Given the description of an element on the screen output the (x, y) to click on. 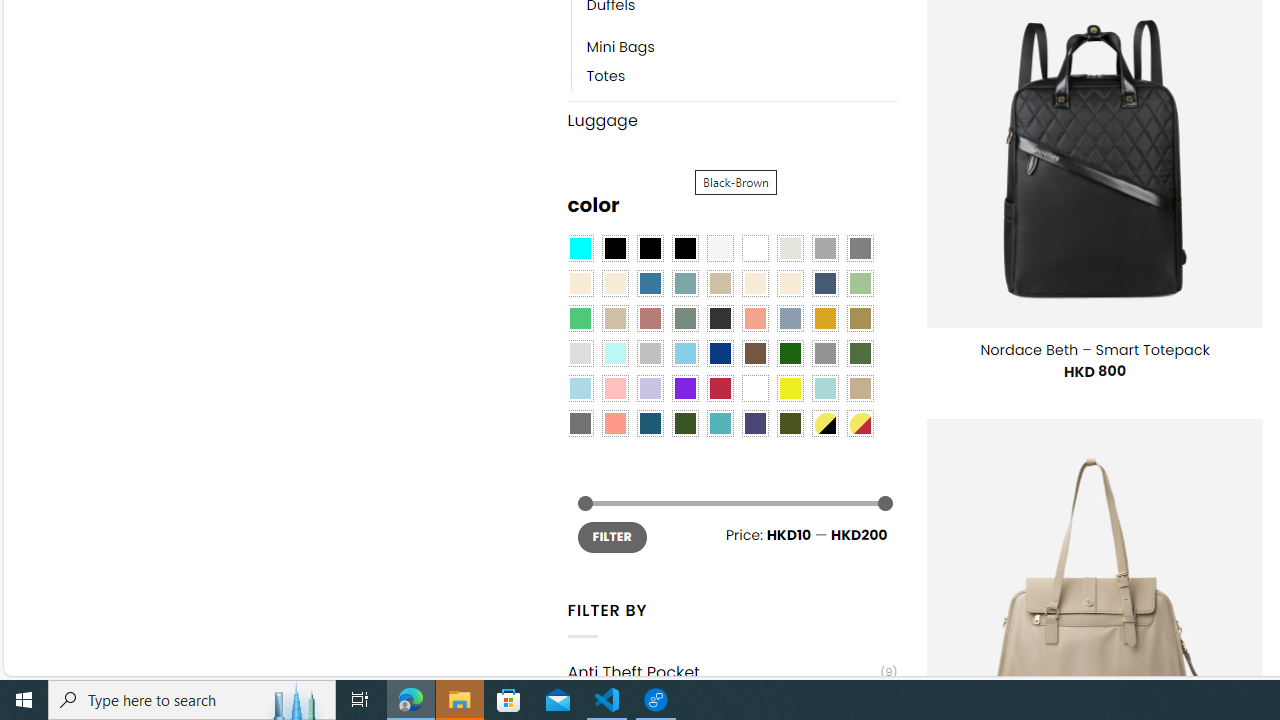
Navy Blue (719, 354)
All Gray (859, 249)
Pearly White (719, 249)
White (755, 388)
All Black (614, 249)
Mint (614, 354)
Yellow-Black (824, 424)
Charcoal (719, 318)
Pink (614, 388)
Khaki (859, 388)
Gold (824, 318)
Luggage (732, 120)
Dull Nickle (579, 424)
Anti Theft Pocket (723, 672)
Beige-Brown (614, 283)
